Given the description of an element on the screen output the (x, y) to click on. 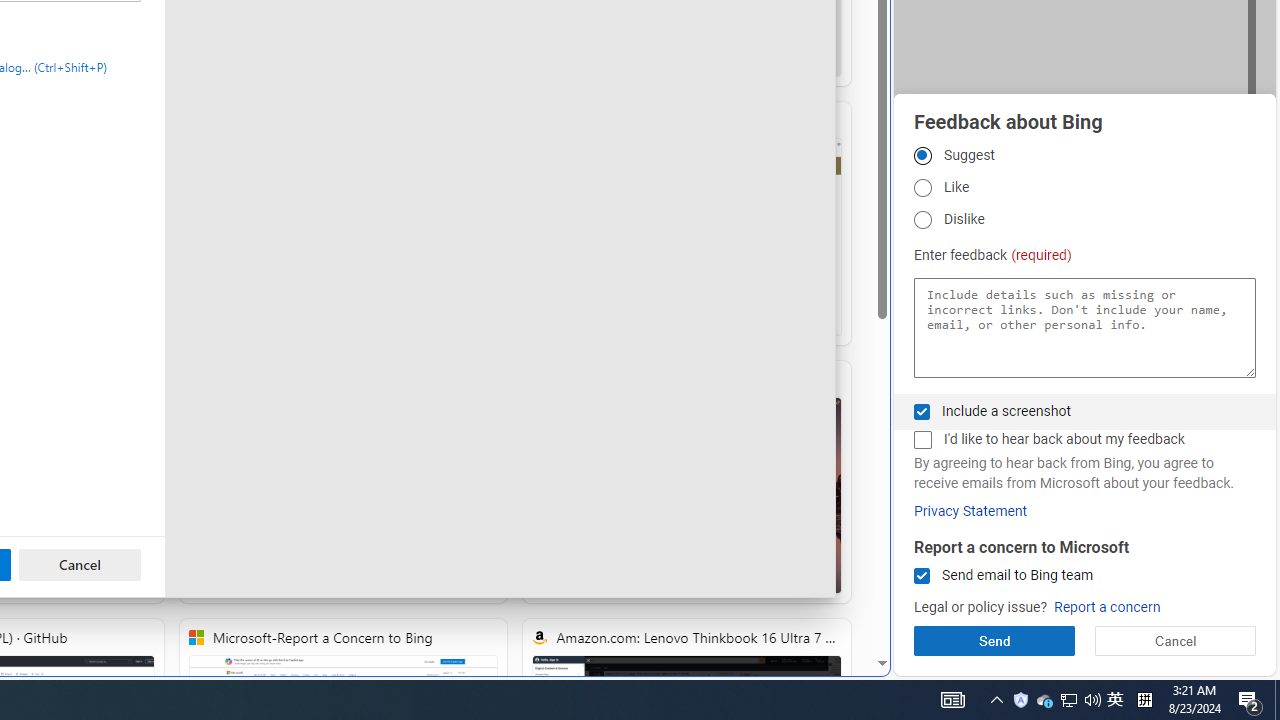
Cancel (79, 564)
